Given the description of an element on the screen output the (x, y) to click on. 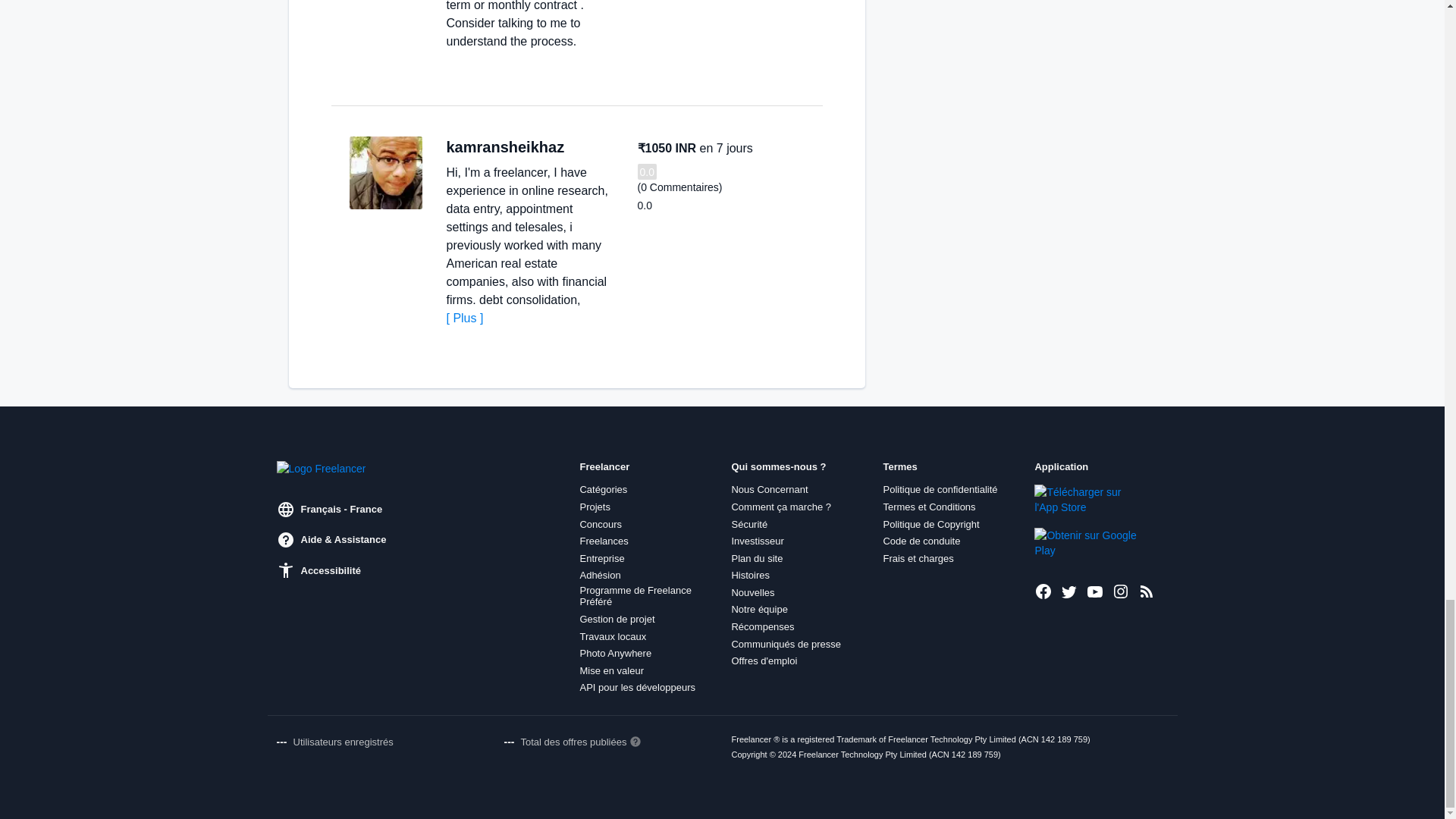
Plus (464, 318)
Freelancer sur Youtube (1094, 591)
L'obtenir sur Google Play (1085, 542)
Azerbaijan (579, 147)
Freelancer sur Instagram (1120, 591)
kamransheikhaz (504, 146)
Voir le profil de kamransheikhaz (385, 172)
Freelancer sur Facebook (1042, 591)
Freelancer sur Twitter (1068, 591)
